Given the description of an element on the screen output the (x, y) to click on. 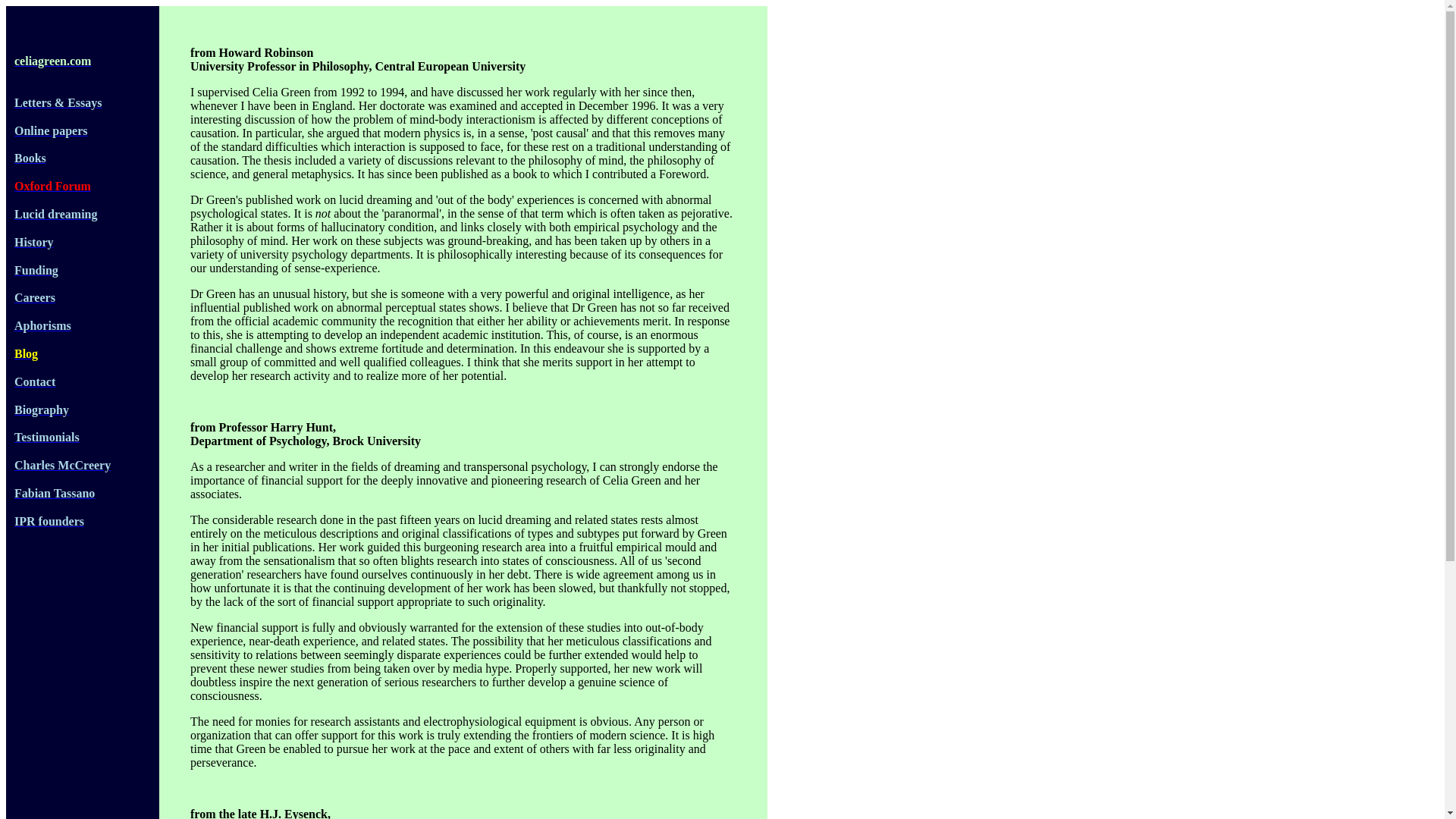
Charles McCreery (58, 464)
Funding (32, 269)
Books (26, 157)
Blog (22, 353)
celiagreen.com (53, 60)
Aphorisms (39, 325)
Testimonials (43, 436)
History (30, 241)
Contact (31, 381)
Fabian Tassano (50, 492)
Online papers (47, 130)
Lucid dreaming (52, 214)
Careers (31, 297)
Oxford Forum (48, 185)
Biography (37, 409)
